Given the description of an element on the screen output the (x, y) to click on. 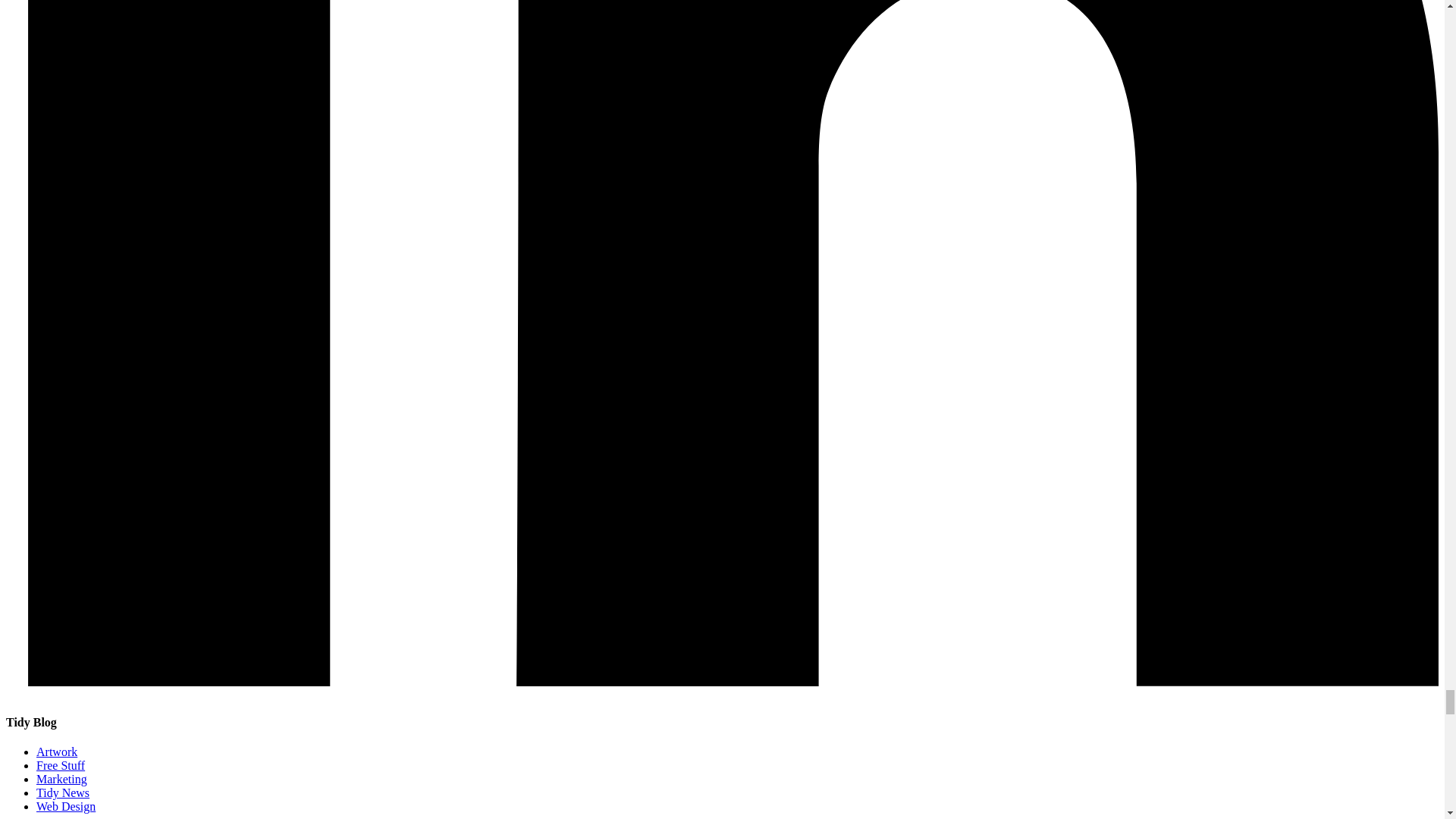
View all posts in Tidy News (62, 792)
View all posts in Artwork (56, 751)
View all posts in Free Stuff (60, 765)
View all posts in Marketing (61, 779)
View all posts in Web Design (66, 806)
